Given the description of an element on the screen output the (x, y) to click on. 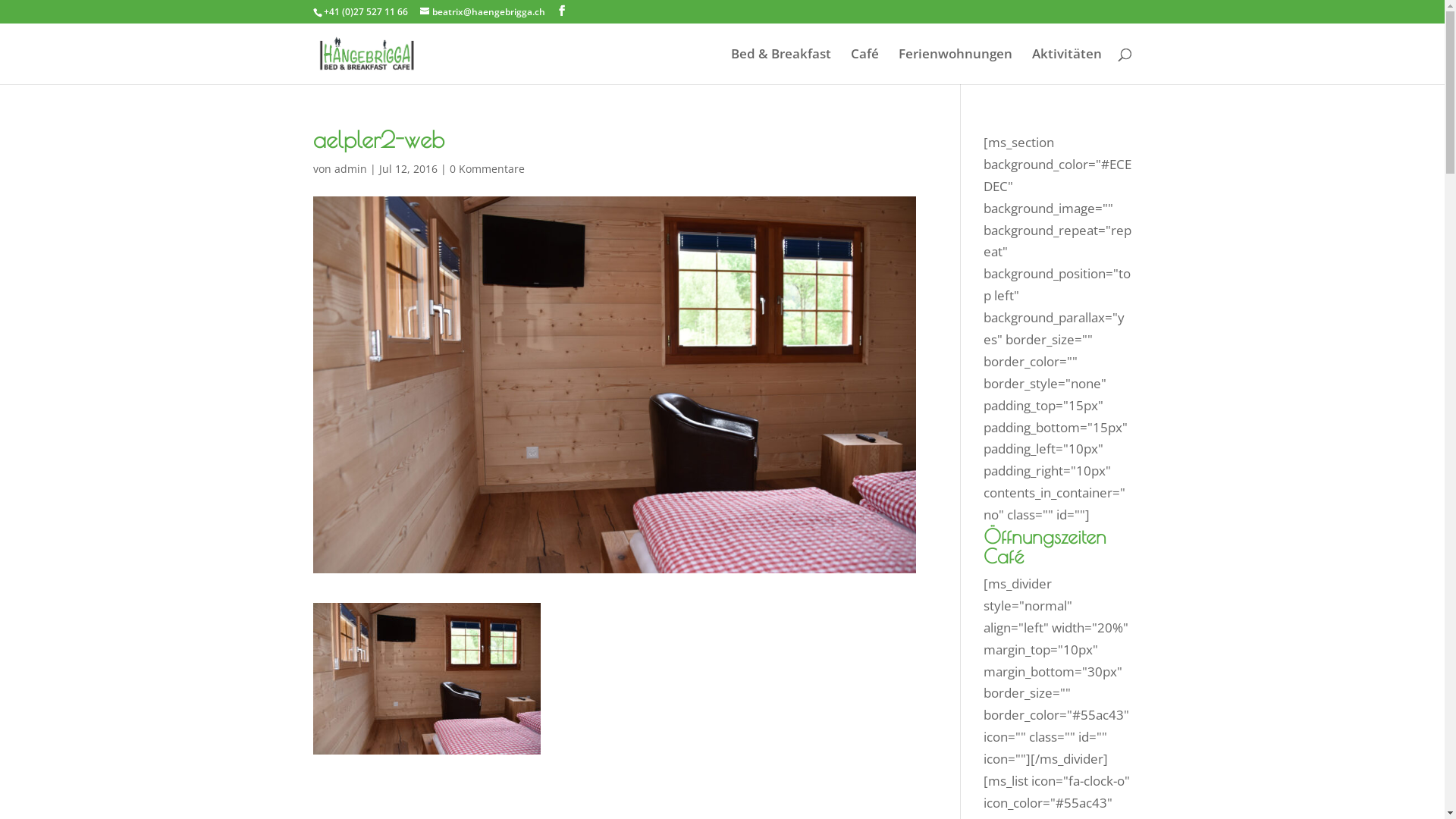
Bed & Breakfast Element type: text (781, 66)
+41 (0)27 527 11 66 Element type: text (365, 11)
0 Kommentare Element type: text (486, 168)
beatrix@haengebrigga.ch Element type: text (482, 11)
Ferienwohnungen Element type: text (954, 66)
admin Element type: text (349, 168)
